Given the description of an element on the screen output the (x, y) to click on. 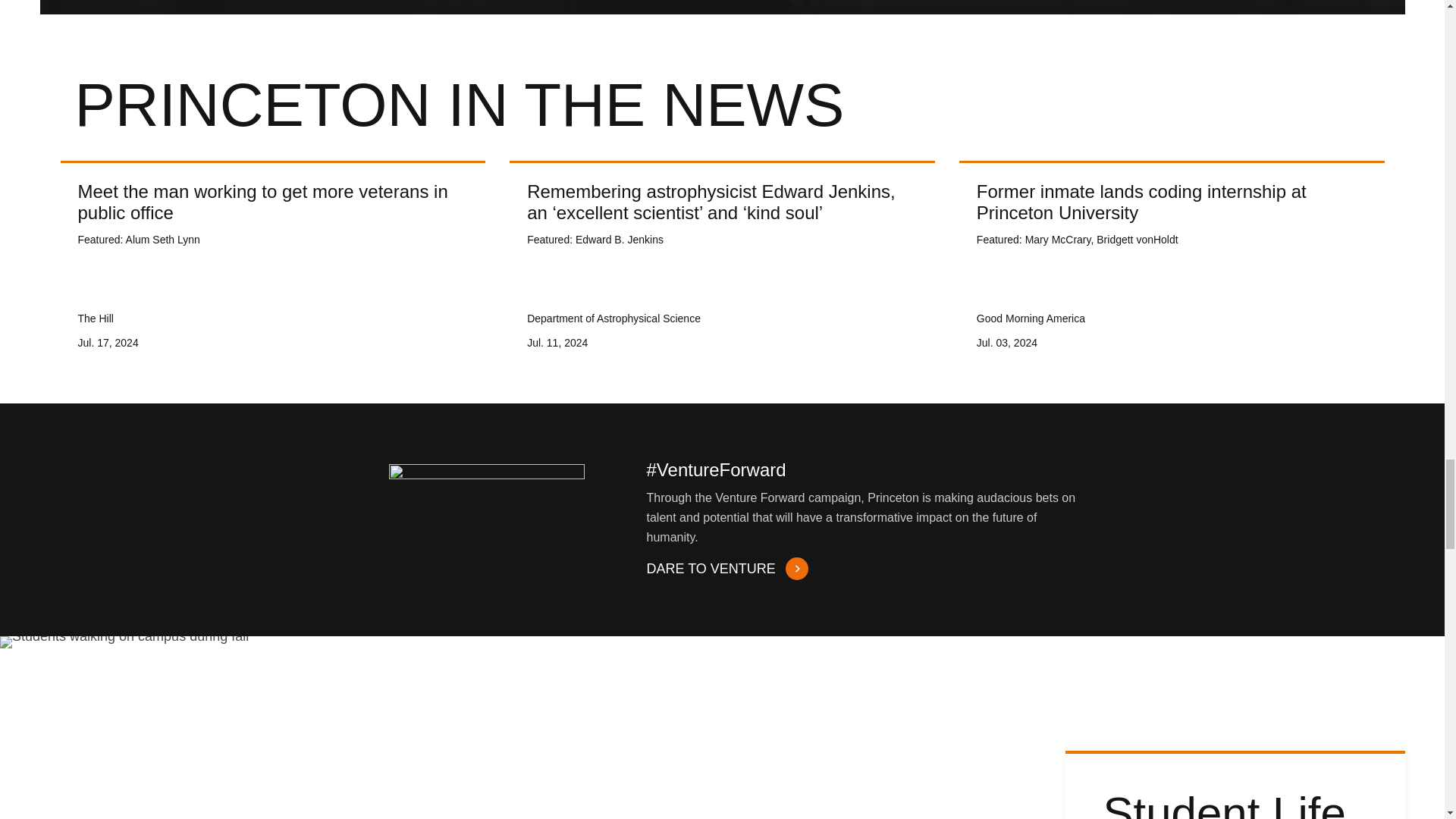
DARE TO VENTURE (725, 568)
